Given the description of an element on the screen output the (x, y) to click on. 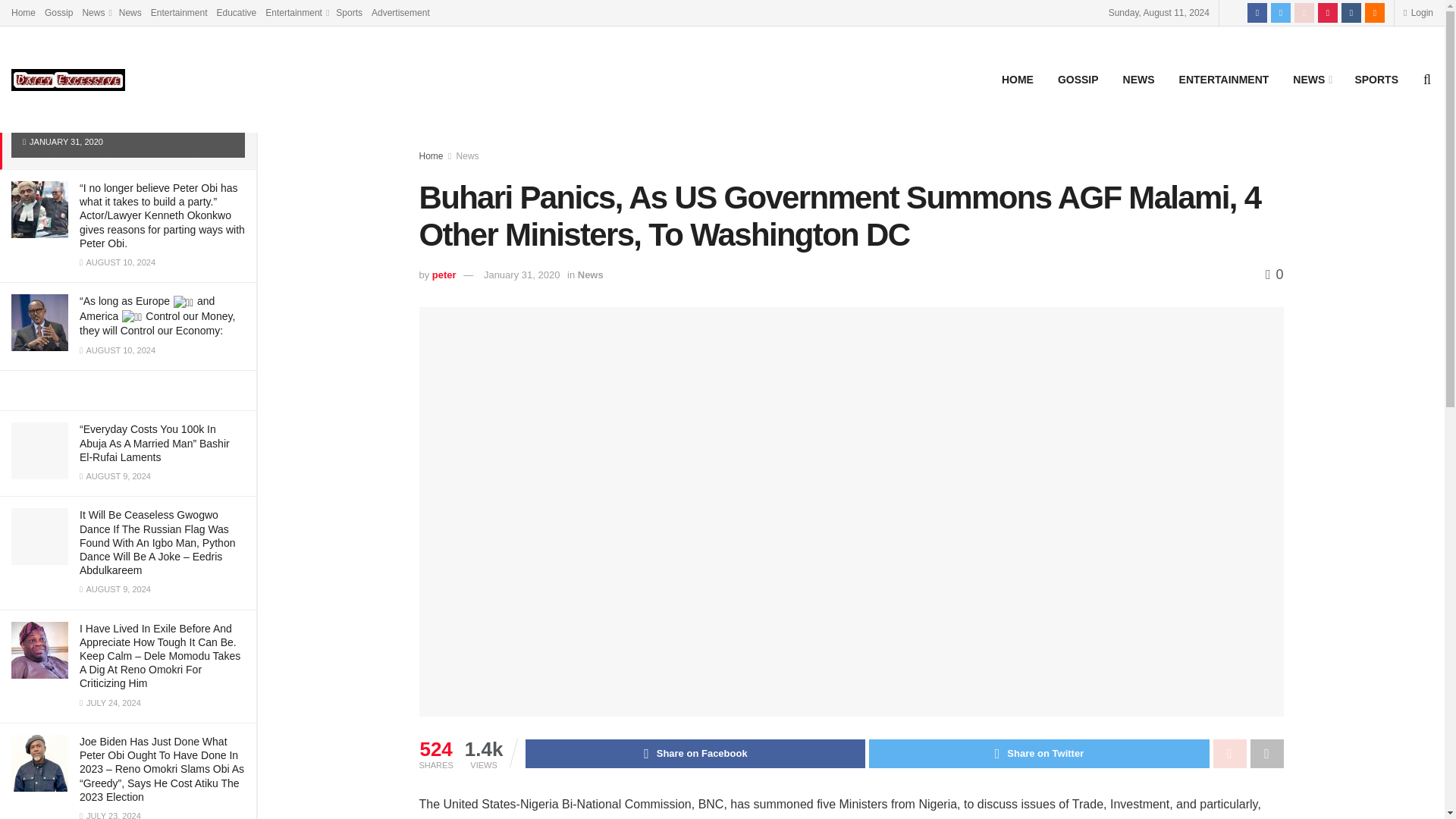
Filter (227, 13)
Entertainment (295, 12)
News (95, 12)
Entertainment (179, 12)
Home (22, 12)
Gossip (58, 12)
Educative (236, 12)
